Given the description of an element on the screen output the (x, y) to click on. 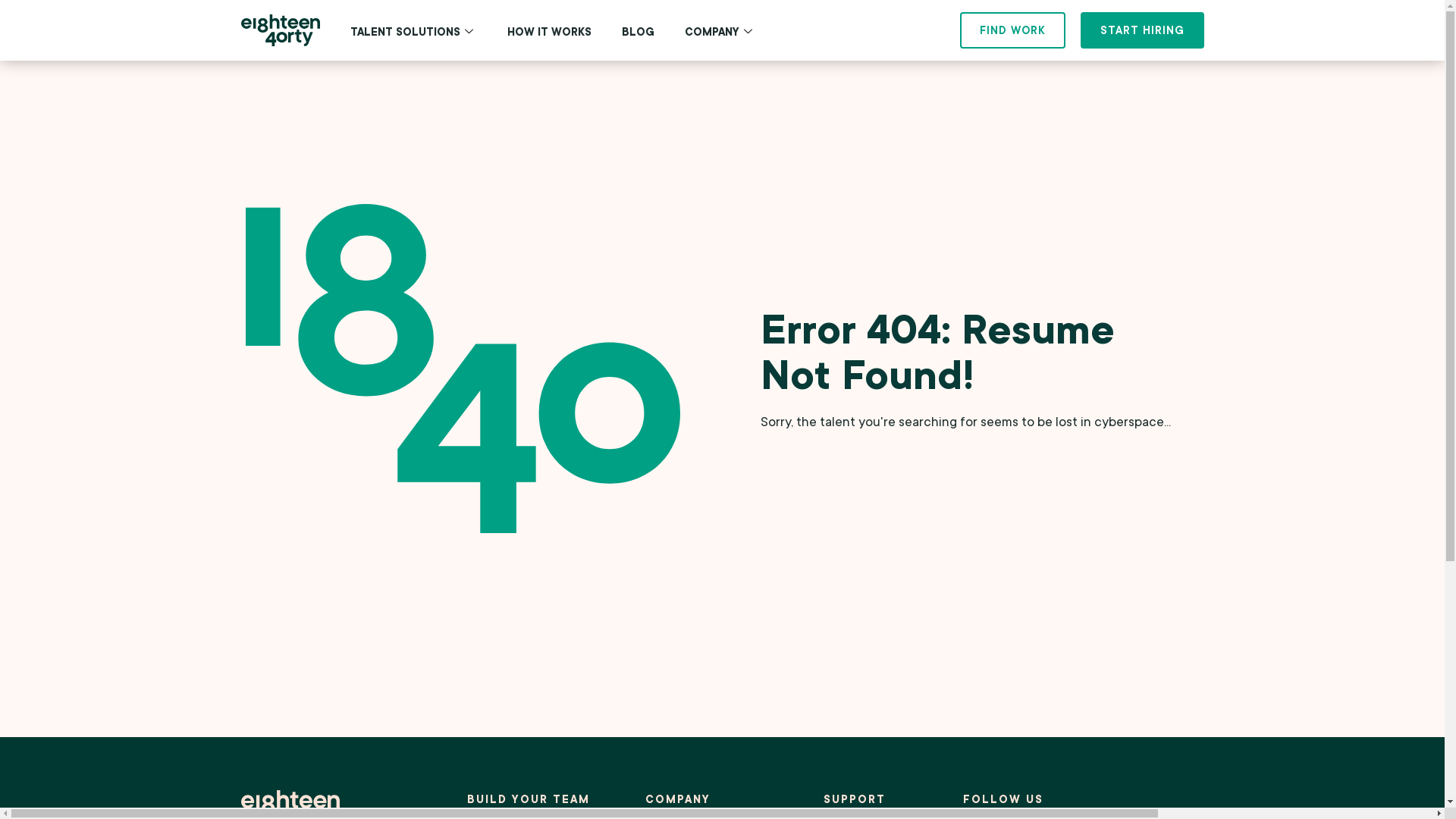
START HIRING Element type: text (1141, 30)
FIND WORK Element type: text (1012, 30)
HOW IT WORKS Element type: text (548, 31)
TALENT SOLUTIONS Element type: text (413, 31)
COMPANY Element type: text (719, 31)
BLOG Element type: text (637, 31)
